Given the description of an element on the screen output the (x, y) to click on. 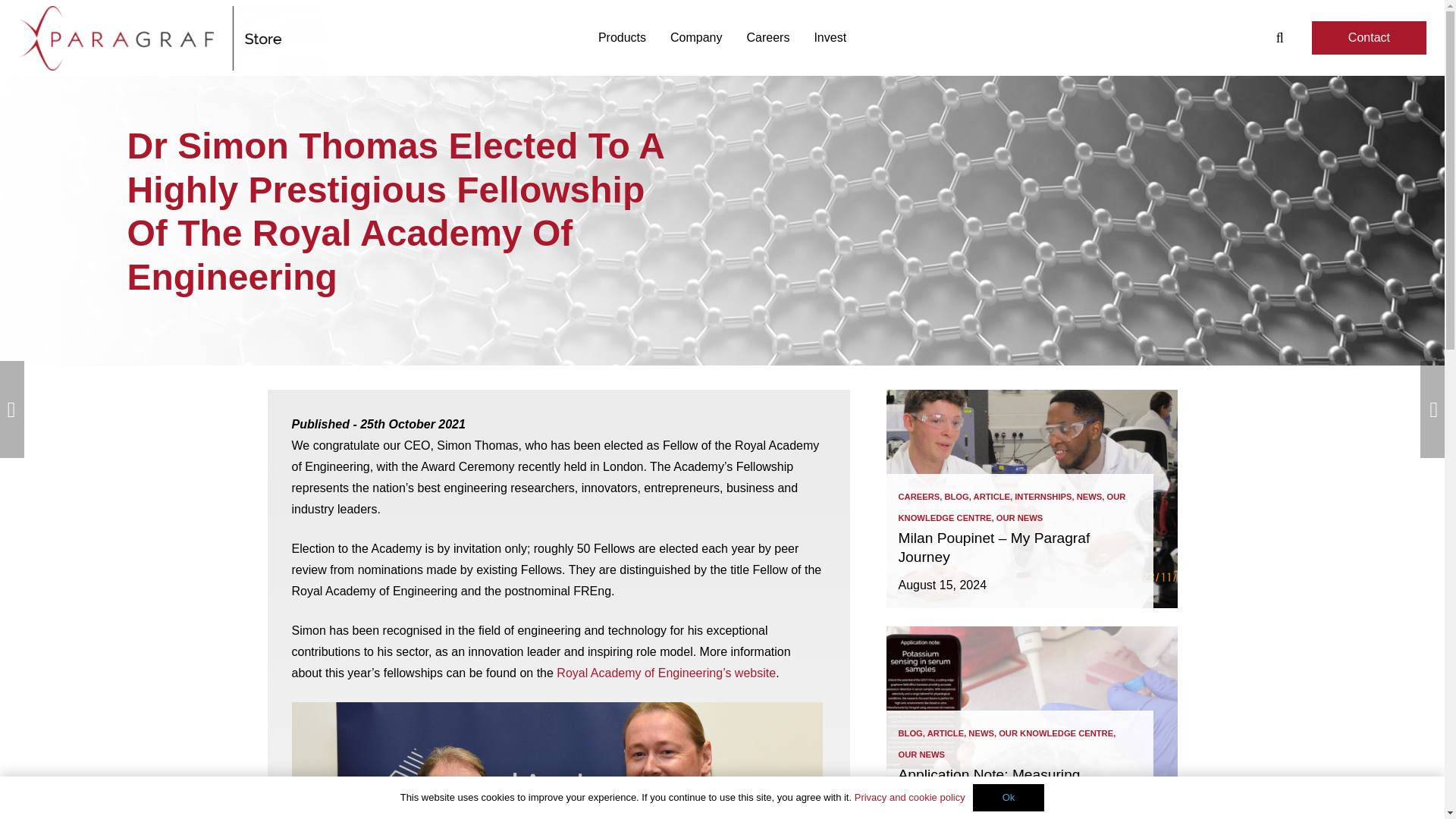
Careers (768, 37)
Invest (830, 37)
Products (622, 37)
Contact (1368, 38)
Company (695, 37)
